Given the description of an element on the screen output the (x, y) to click on. 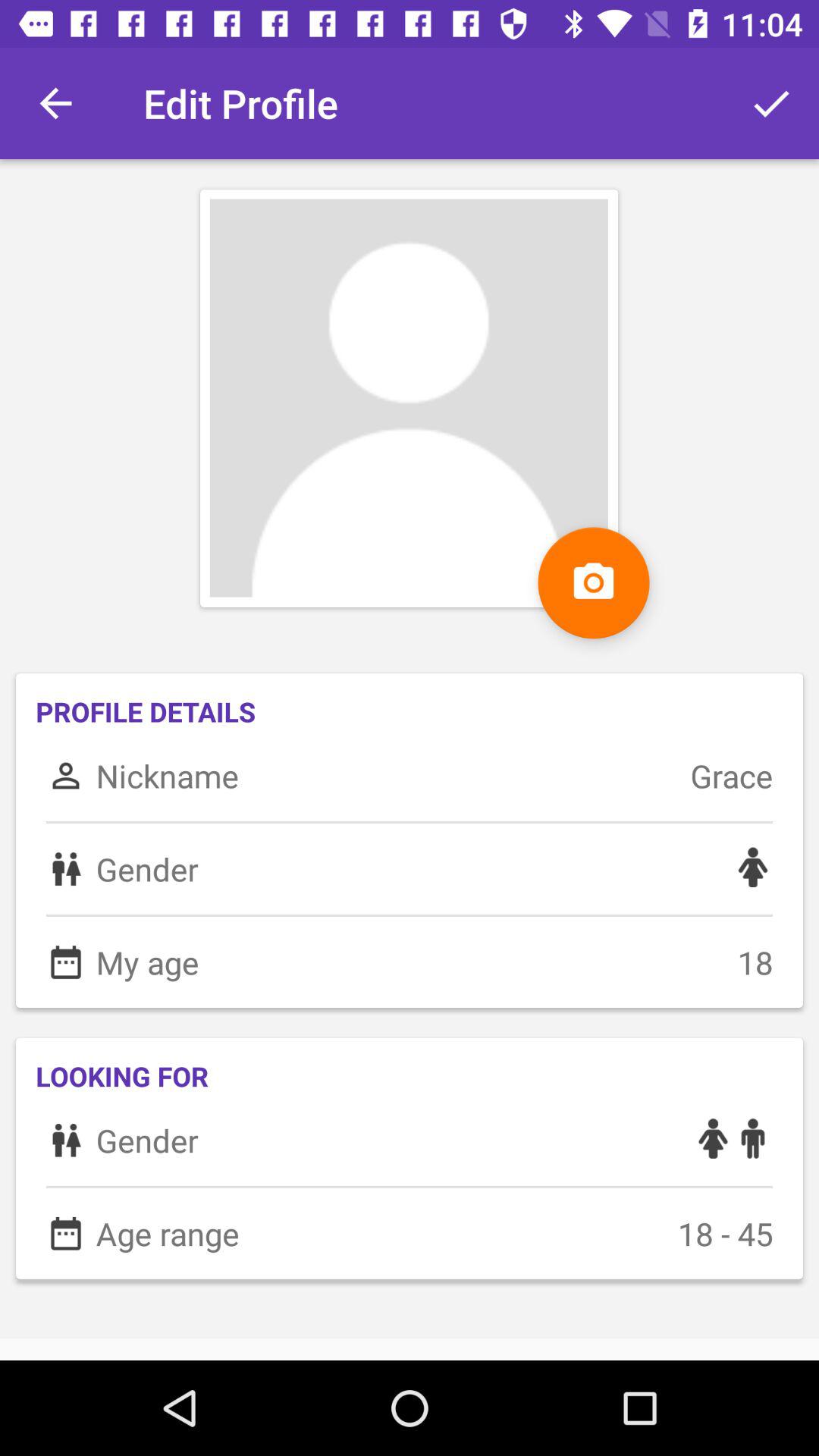
turn on icon to the left of the edit profile item (55, 103)
